Given the description of an element on the screen output the (x, y) to click on. 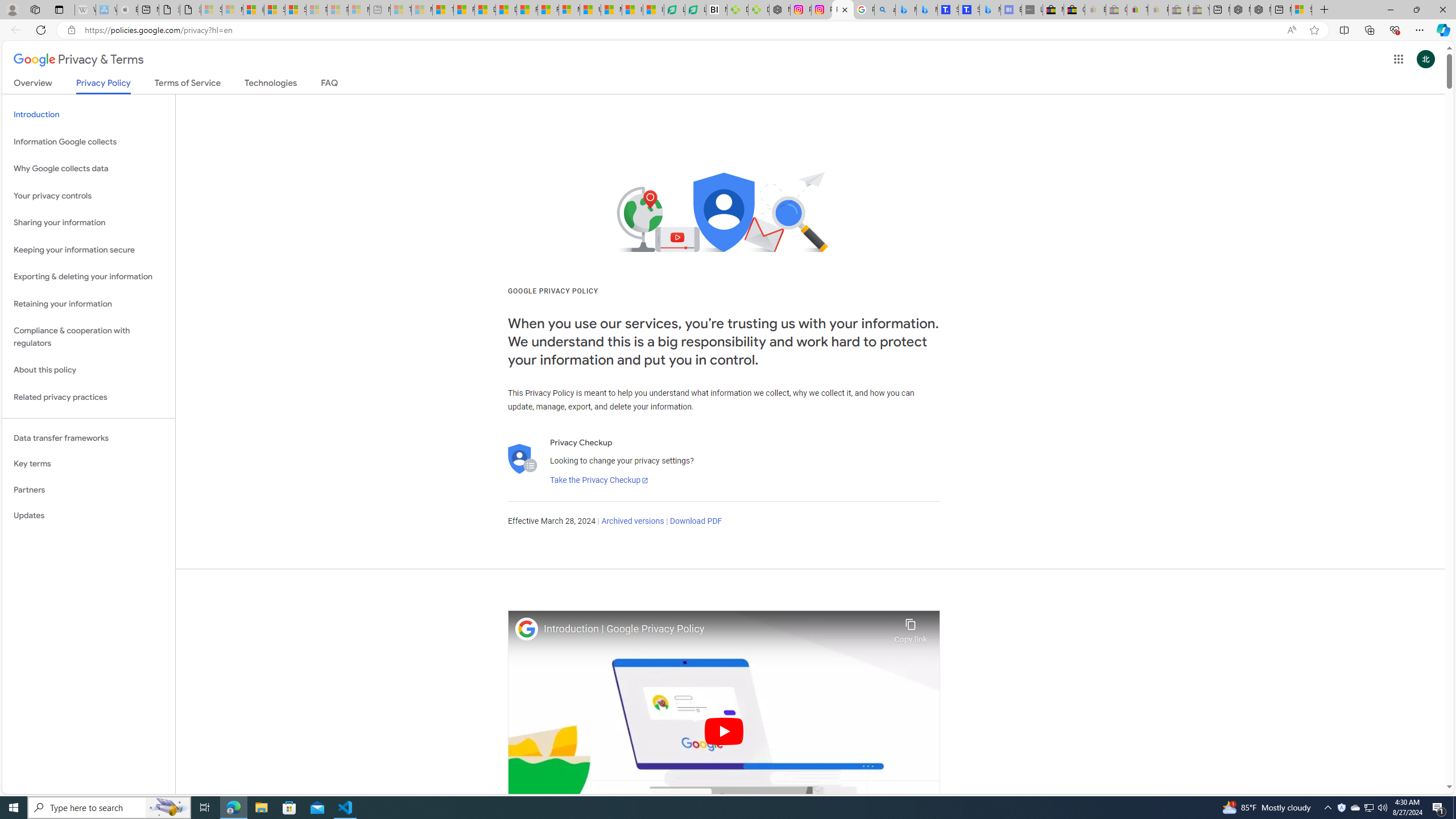
Why Google collects data (88, 168)
Marine life - MSN - Sleeping (421, 9)
Buy iPad - Apple - Sleeping (127, 9)
Sharing your information (88, 222)
Introduction | Google Privacy Policy (716, 629)
Microsoft account | Account Checkup - Sleeping (358, 9)
Technologies (270, 84)
Introduction (88, 114)
Retaining your information (88, 303)
Play (724, 731)
